Given the description of an element on the screen output the (x, y) to click on. 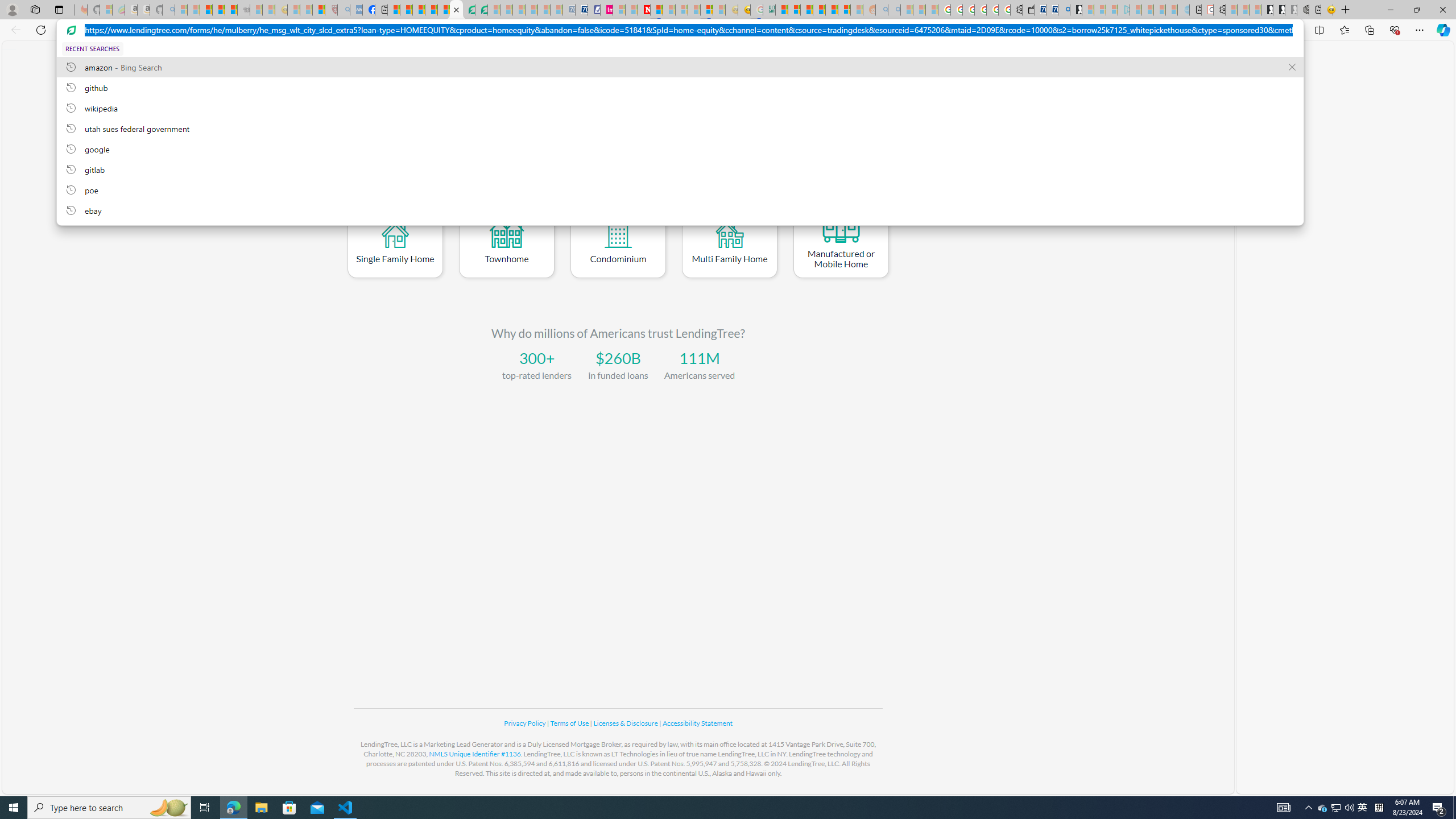
Microsoft Word - consumer-privacy address update 2.2021 (481, 9)
Jobs - lastminute.com Investor Portal (606, 9)
Accessibility Statement (697, 723)
Terms of Use Agreement (468, 9)
Latest Politics News & Archive | Newsweek.com (644, 9)
